Given the description of an element on the screen output the (x, y) to click on. 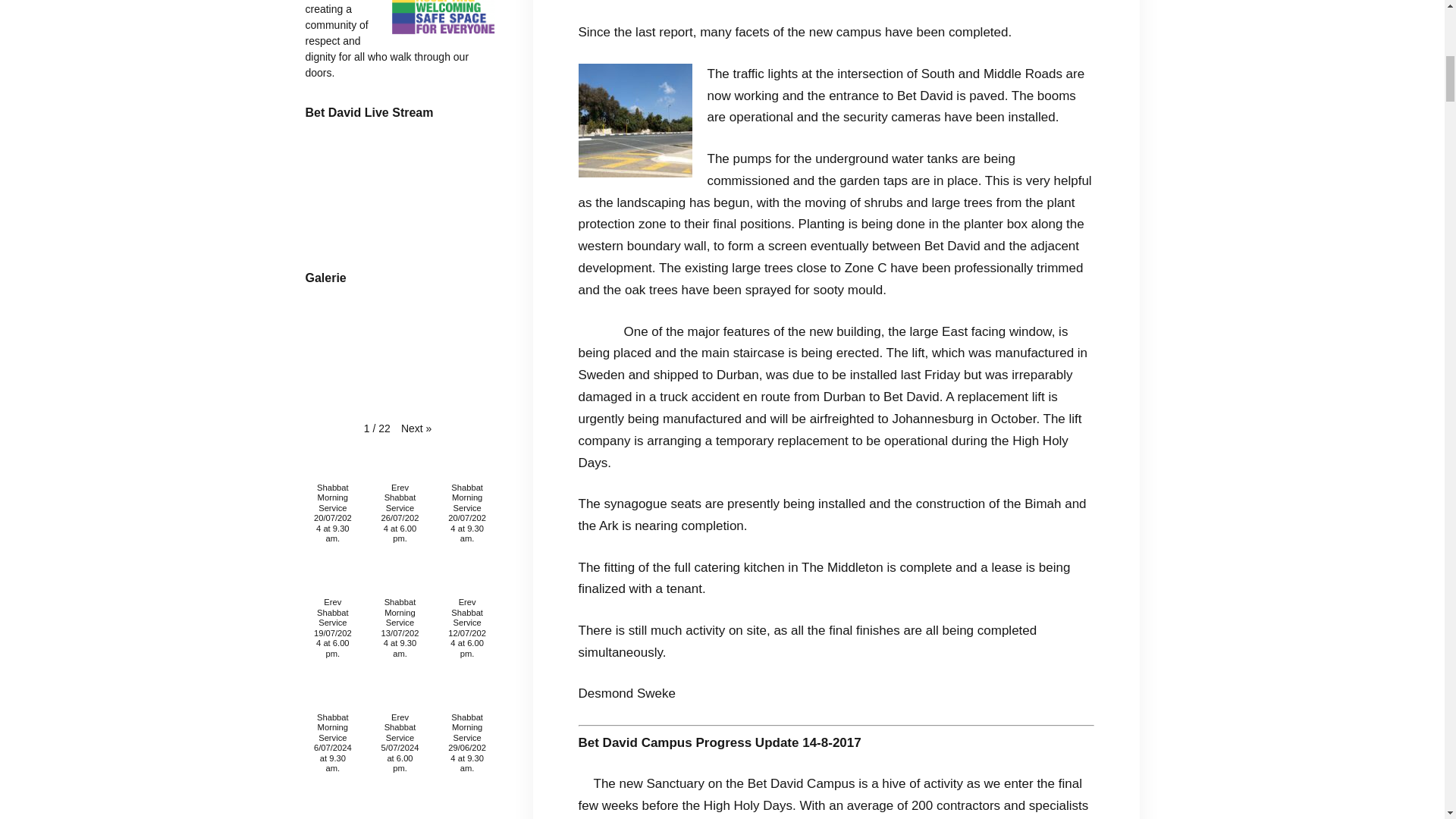
YouTube player (399, 358)
YouTube player (399, 193)
